Given the description of an element on the screen output the (x, y) to click on. 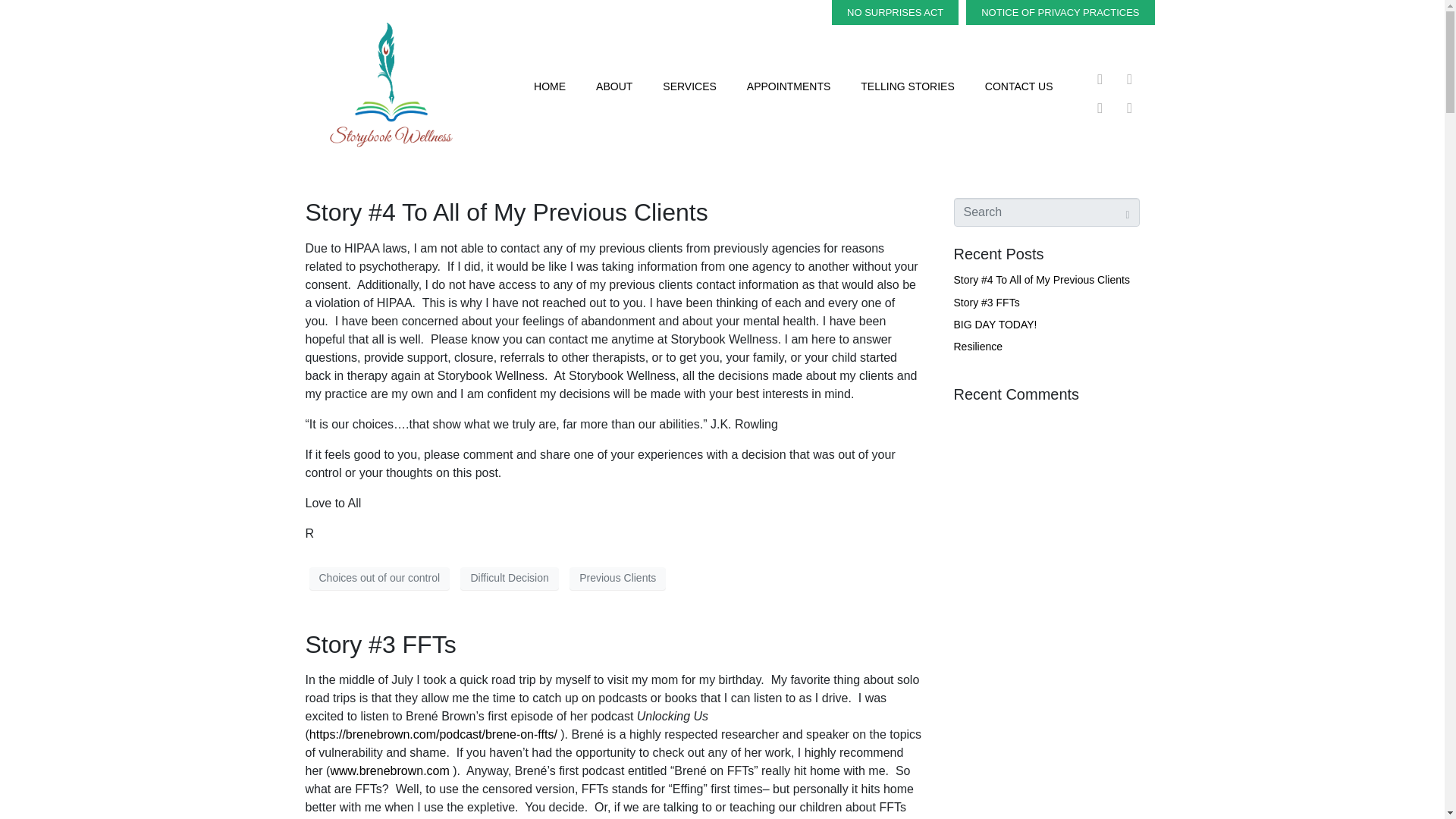
ABOUT (613, 85)
HOME (549, 85)
NO SURPRISES ACT (894, 12)
APPOINTMENTS (788, 85)
CONTACT US (1018, 85)
NOTICE OF PRIVACY PRACTICES (1060, 12)
TELLING STORIES (907, 85)
SERVICES (689, 85)
